Given the description of an element on the screen output the (x, y) to click on. 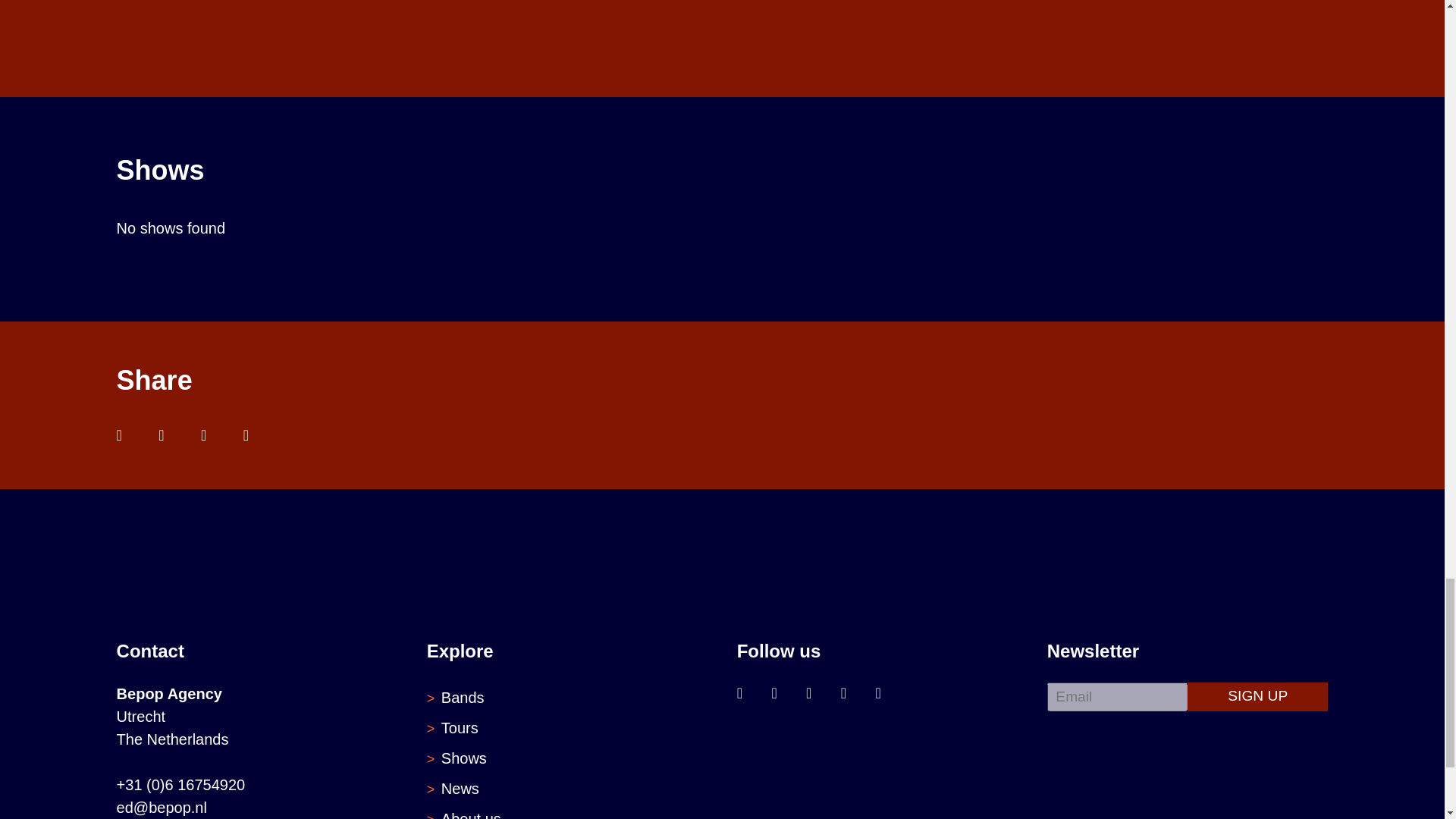
Shows (463, 758)
Tours (460, 727)
Bands (462, 697)
About us (470, 814)
News (460, 788)
